Given the description of an element on the screen output the (x, y) to click on. 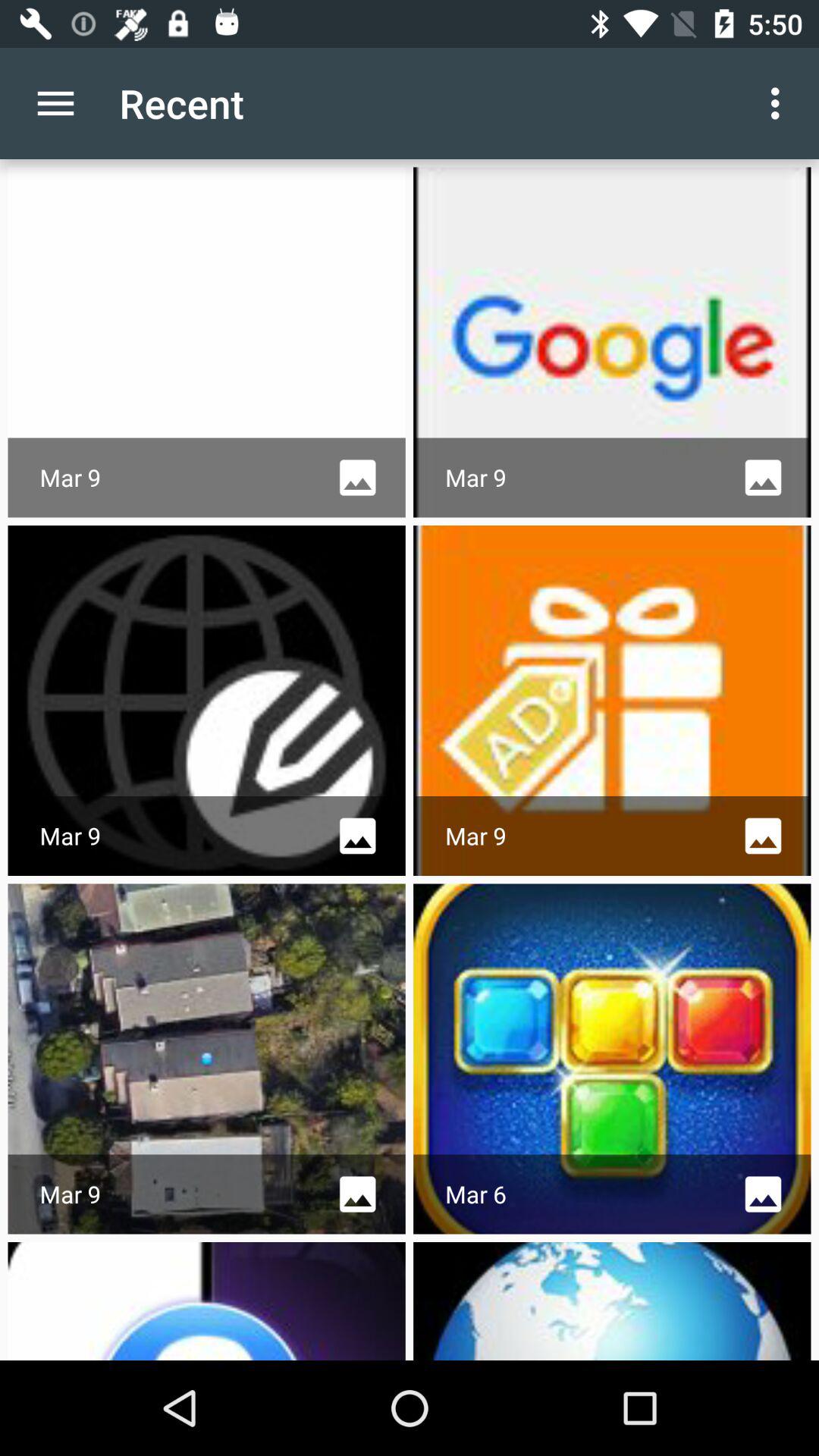
press icon to the right of the recent app (779, 103)
